Given the description of an element on the screen output the (x, y) to click on. 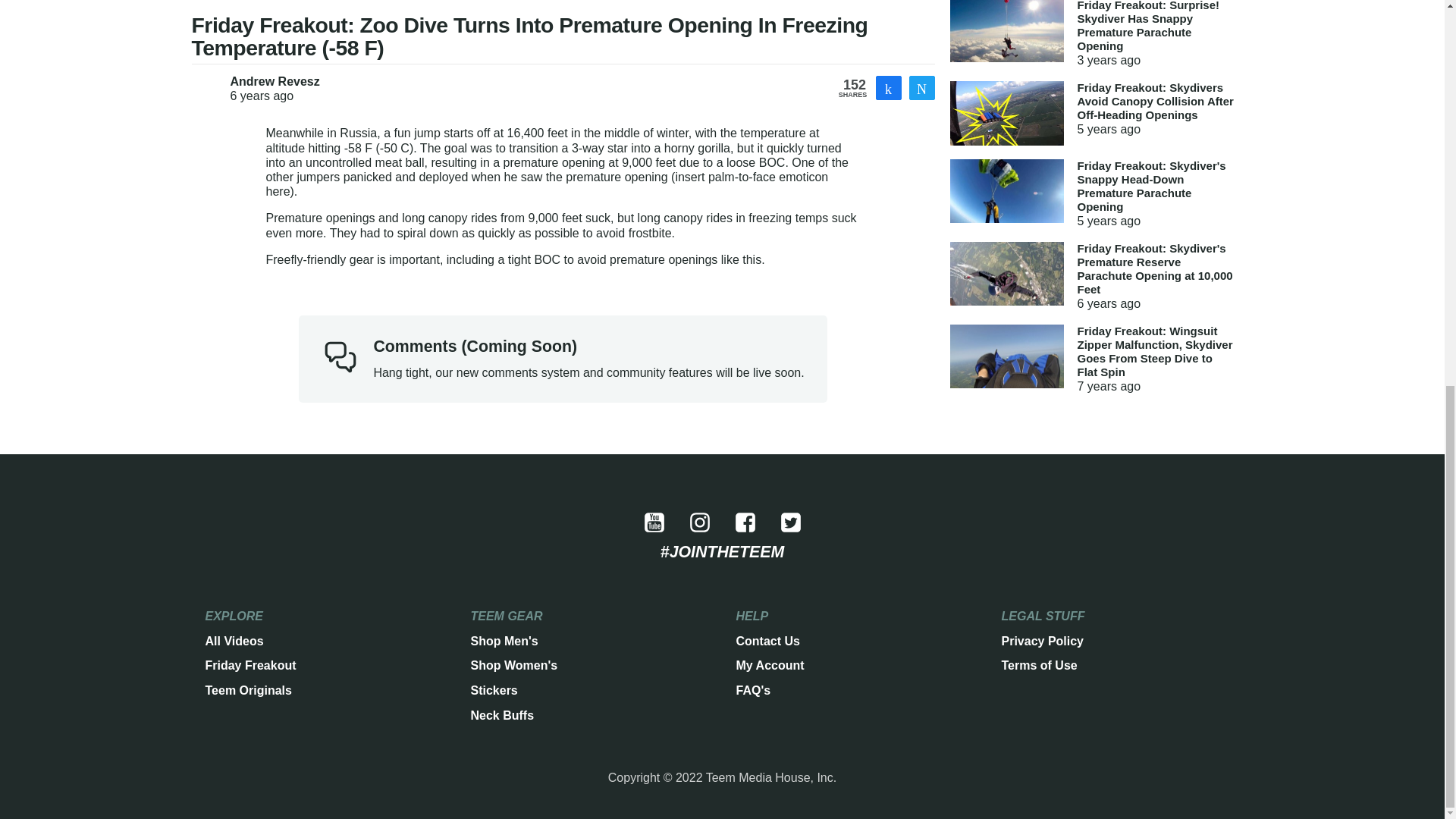
Friday Freakout (250, 665)
All Videos (234, 640)
Teem Originals (248, 690)
Shop Men's (503, 640)
